Given the description of an element on the screen output the (x, y) to click on. 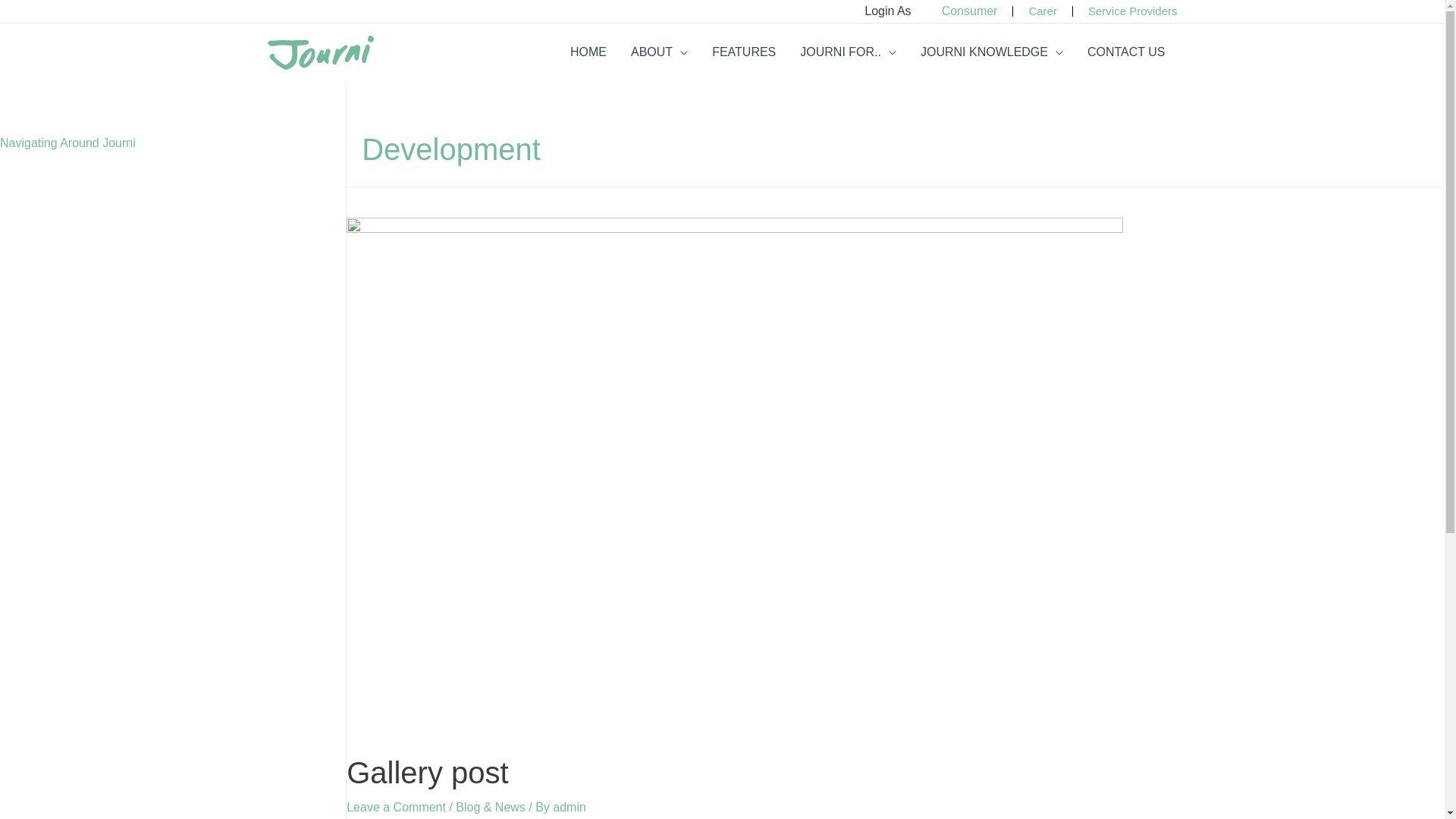
Blog & News Element type: text (490, 806)
admin Element type: text (569, 806)
Navigating Around Journi Element type: text (67, 142)
HOME Element type: text (588, 52)
Gallery post Element type: text (427, 772)
Service Providers Element type: text (1132, 10)
CONTACT US Element type: text (1126, 52)
Consumer Element type: text (969, 10)
FEATURES Element type: text (743, 52)
ABOUT Element type: text (658, 52)
Leave a Comment Element type: text (395, 806)
Carer Element type: text (1042, 10)
JOURNI KNOWLEDGE Element type: text (991, 52)
JOURNI FOR.. Element type: text (847, 52)
